Given the description of an element on the screen output the (x, y) to click on. 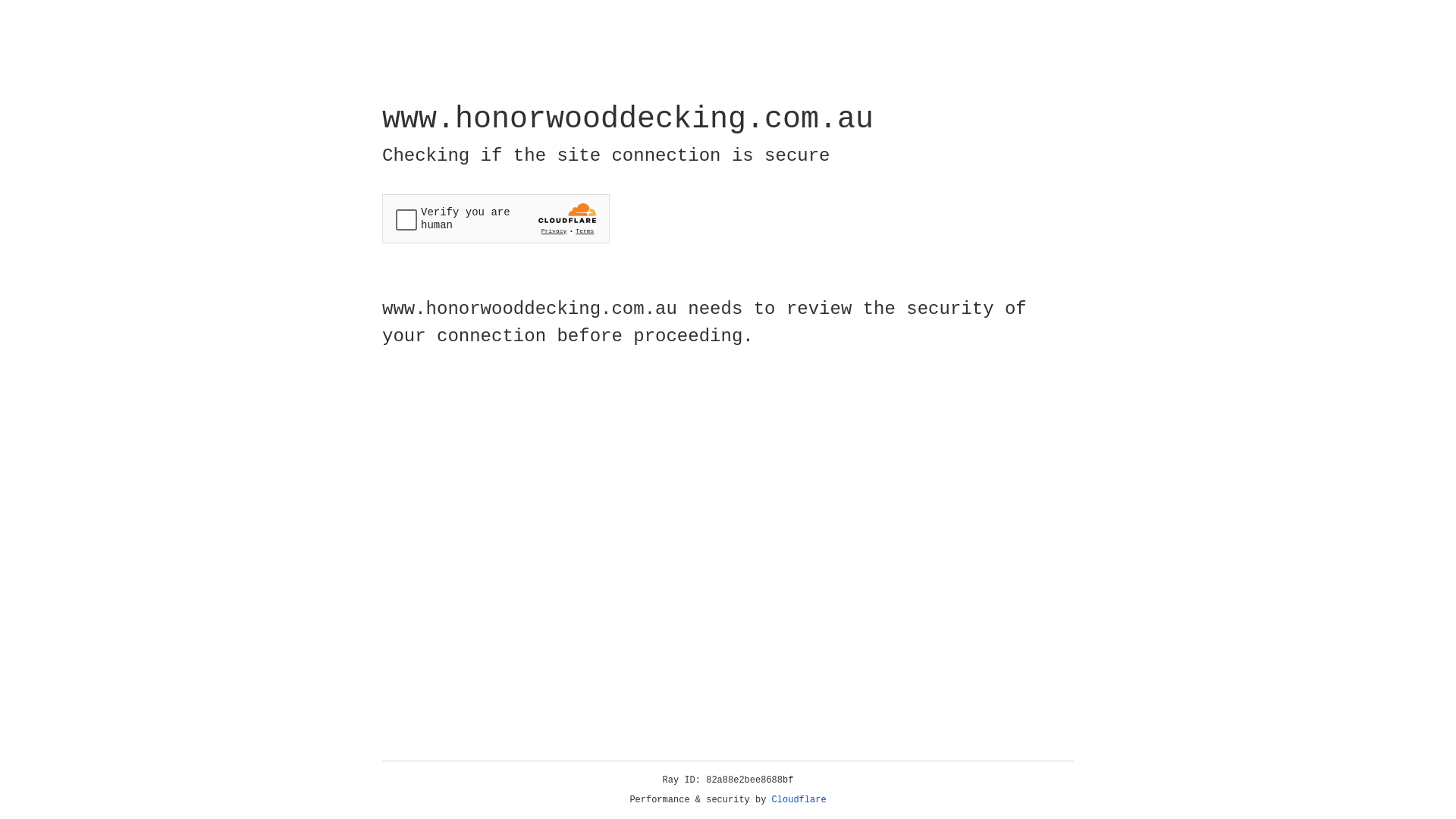
Widget containing a Cloudflare security challenge Element type: hover (495, 218)
Cloudflare Element type: text (798, 799)
